Given the description of an element on the screen output the (x, y) to click on. 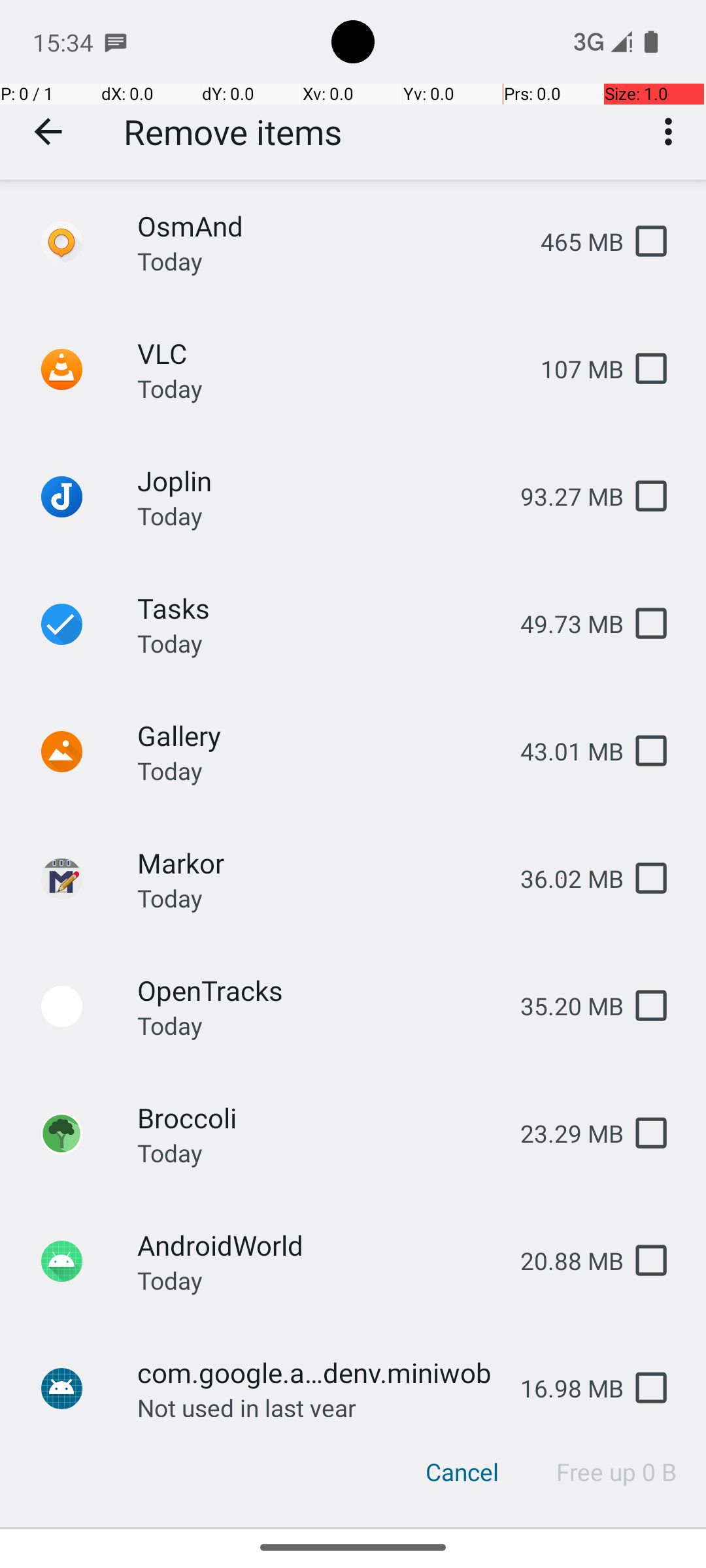
Remove items Element type: android.widget.TextView (232, 131)
Free up 0 B Element type: android.widget.Button (616, 1471)
465 MB Element type: android.widget.TextView (571, 241)
107 MB Element type: android.widget.TextView (571, 368)
93.27 MB Element type: android.widget.TextView (561, 495)
49.73 MB Element type: android.widget.TextView (561, 623)
43.01 MB Element type: android.widget.TextView (561, 750)
36.02 MB Element type: android.widget.TextView (561, 878)
35.20 MB Element type: android.widget.TextView (561, 1005)
23.29 MB Element type: android.widget.TextView (561, 1132)
20.88 MB Element type: android.widget.TextView (561, 1260)
com.google.androidenv.miniwob Element type: android.widget.TextView (318, 1371)
Not used in last year Element type: android.widget.TextView (246, 1403)
16.98 MB Element type: android.widget.TextView (561, 1387)
